Given the description of an element on the screen output the (x, y) to click on. 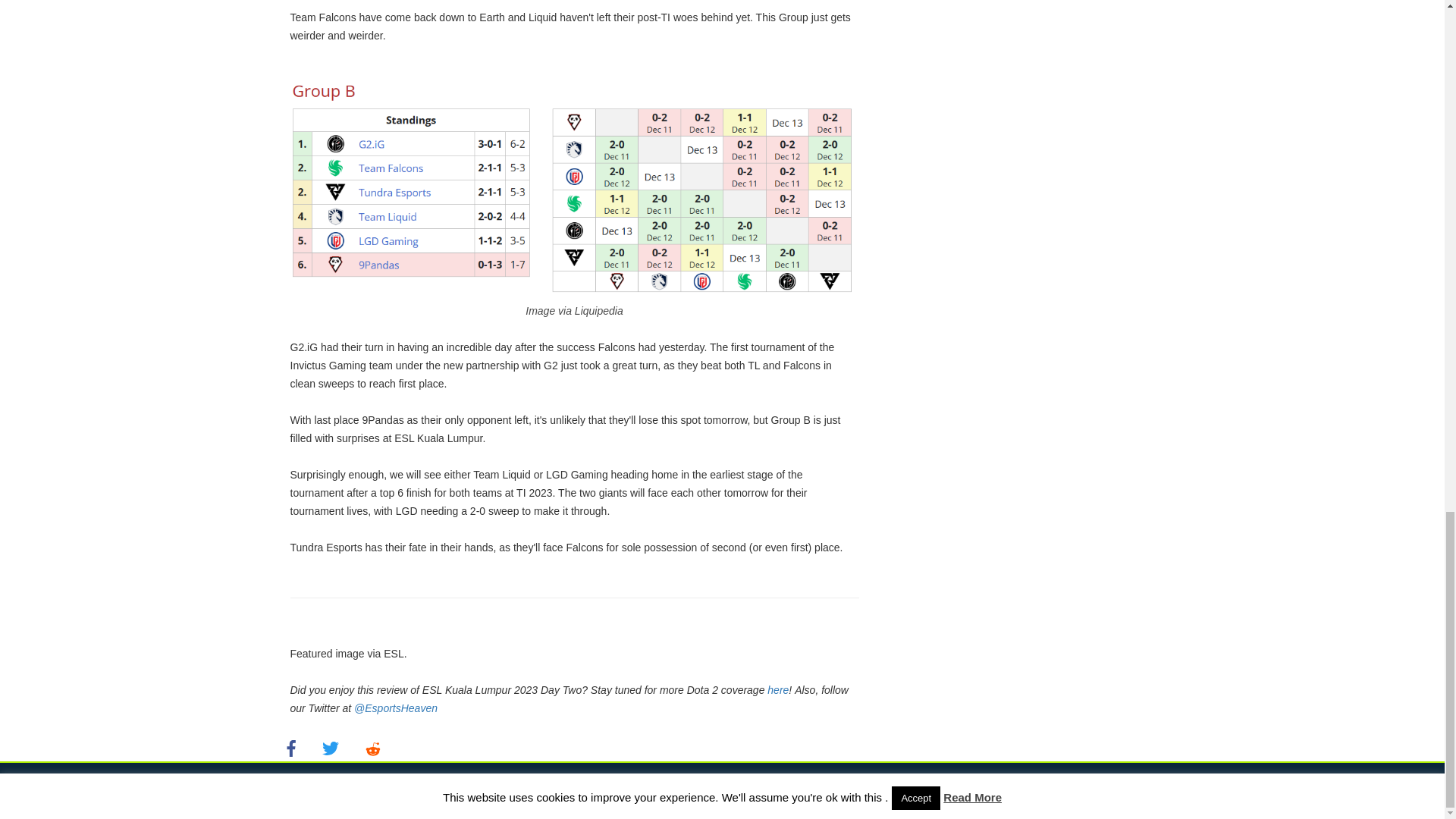
here (778, 689)
Advertise (967, 789)
Privacy Policy (898, 789)
